Given the description of an element on the screen output the (x, y) to click on. 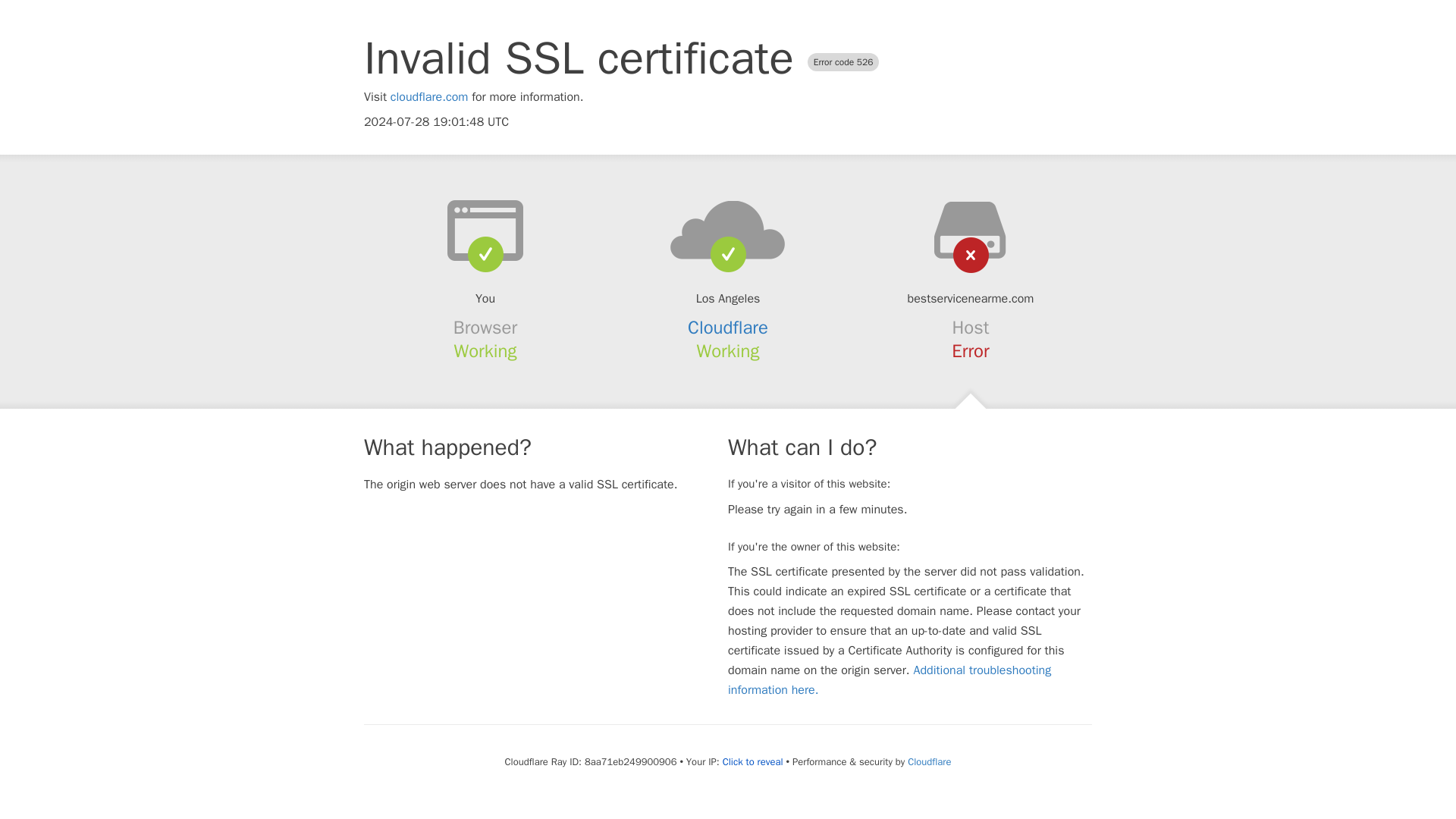
cloudflare.com (429, 96)
Click to reveal (752, 762)
Cloudflare (727, 327)
Cloudflare (928, 761)
Additional troubleshooting information here. (889, 679)
